Given the description of an element on the screen output the (x, y) to click on. 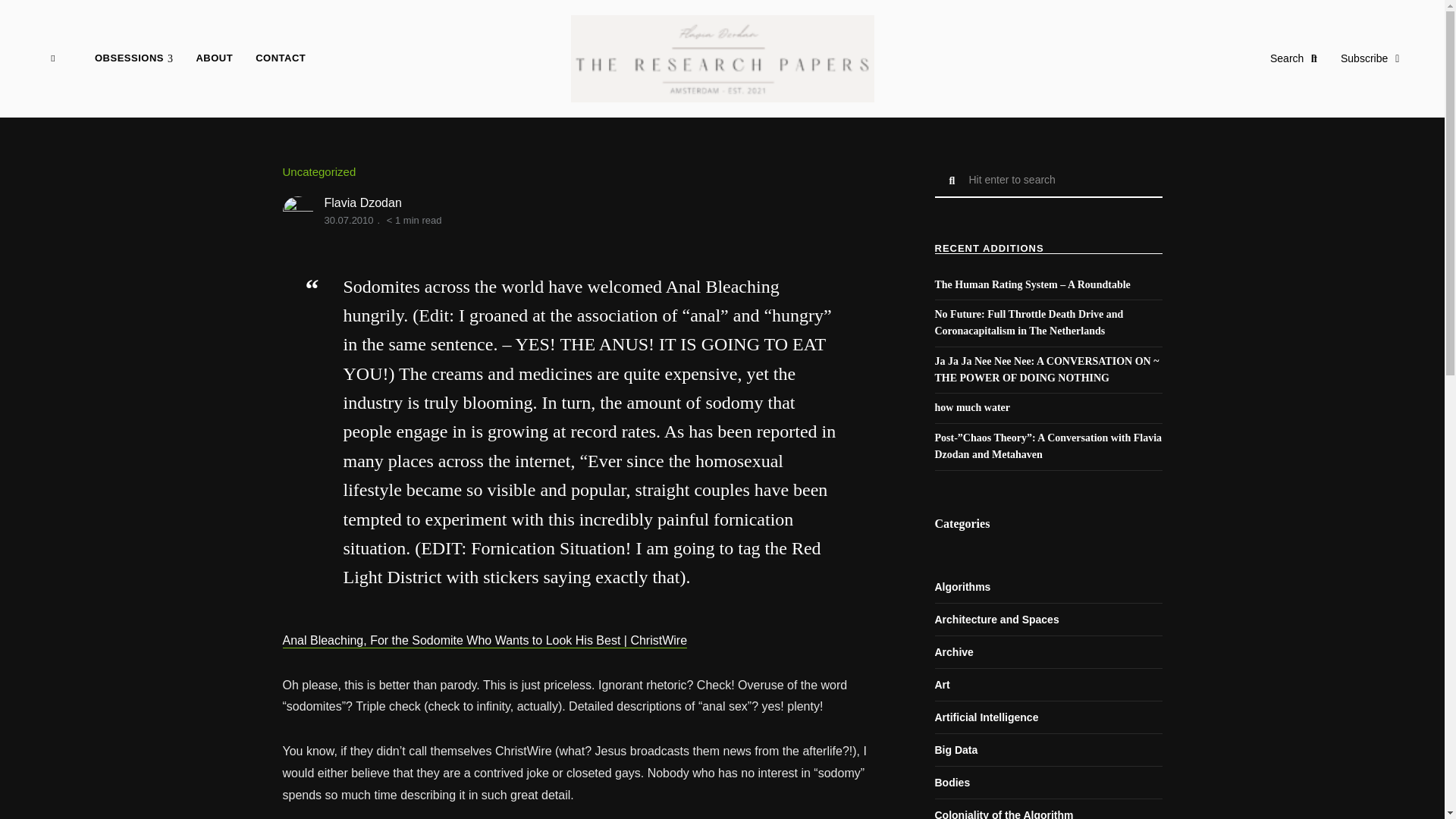
Menu (52, 57)
Uncategorized (318, 171)
OBSESSIONS (133, 58)
CONTACT (280, 58)
Flavia Dzodan (362, 202)
